Given the description of an element on the screen output the (x, y) to click on. 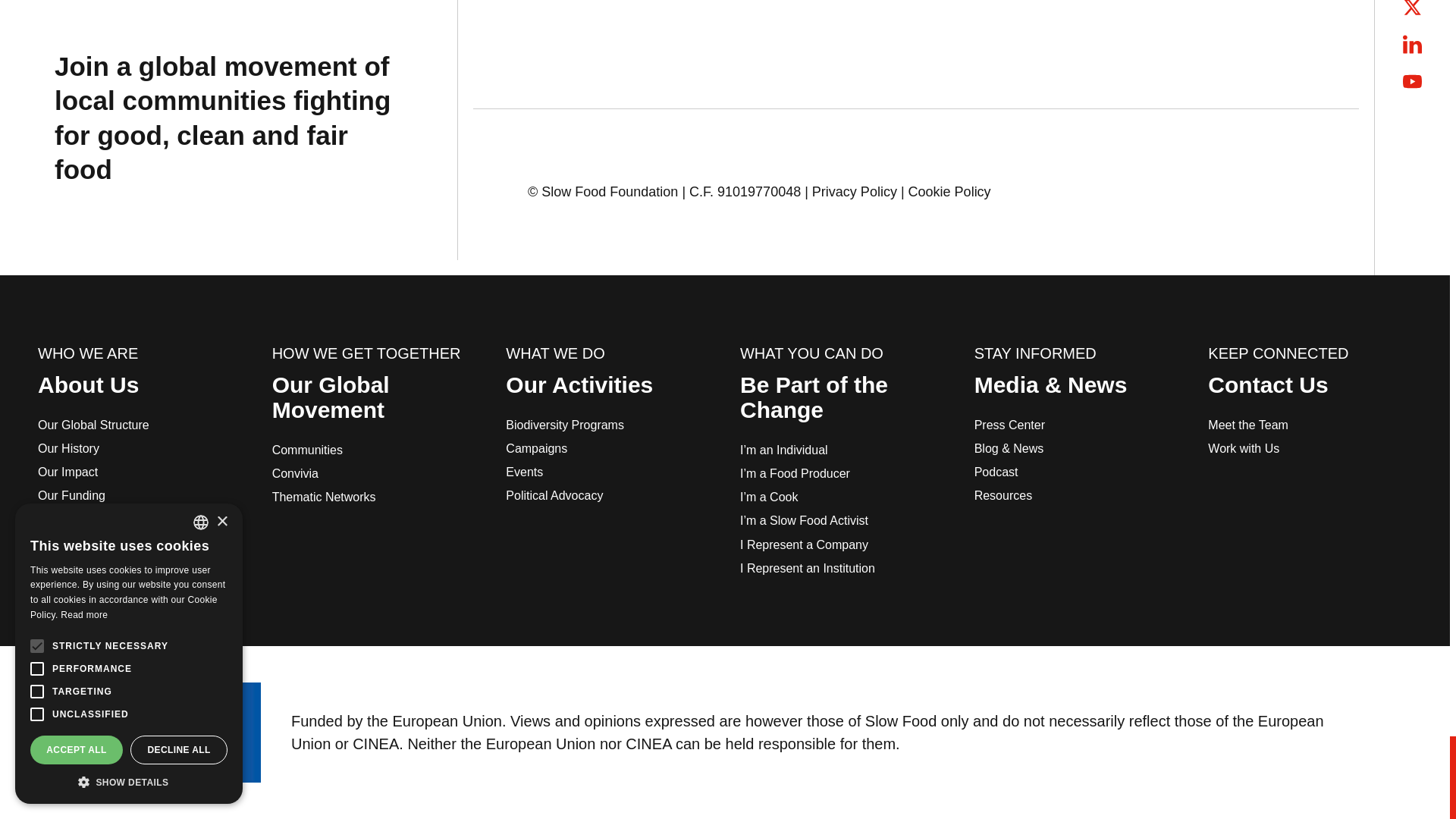
Privacy Policy (854, 191)
Cookie Policy (949, 191)
Follow us on twitter (1412, 8)
